Given the description of an element on the screen output the (x, y) to click on. 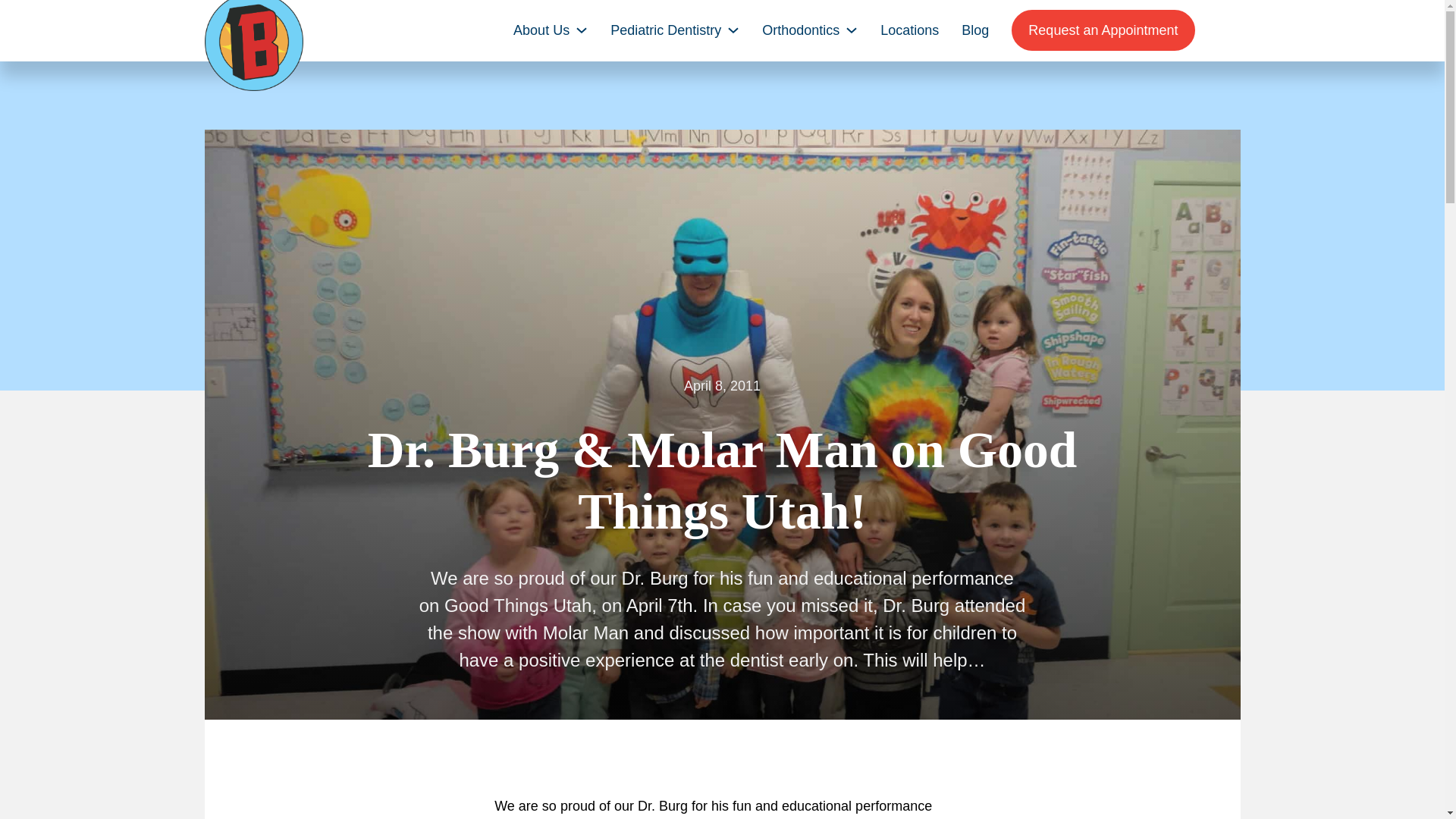
Locations (909, 29)
About Us (541, 29)
Request an Appointment (1102, 30)
Orthodontics (800, 29)
Pediatric Dentistry (665, 29)
